Given the description of an element on the screen output the (x, y) to click on. 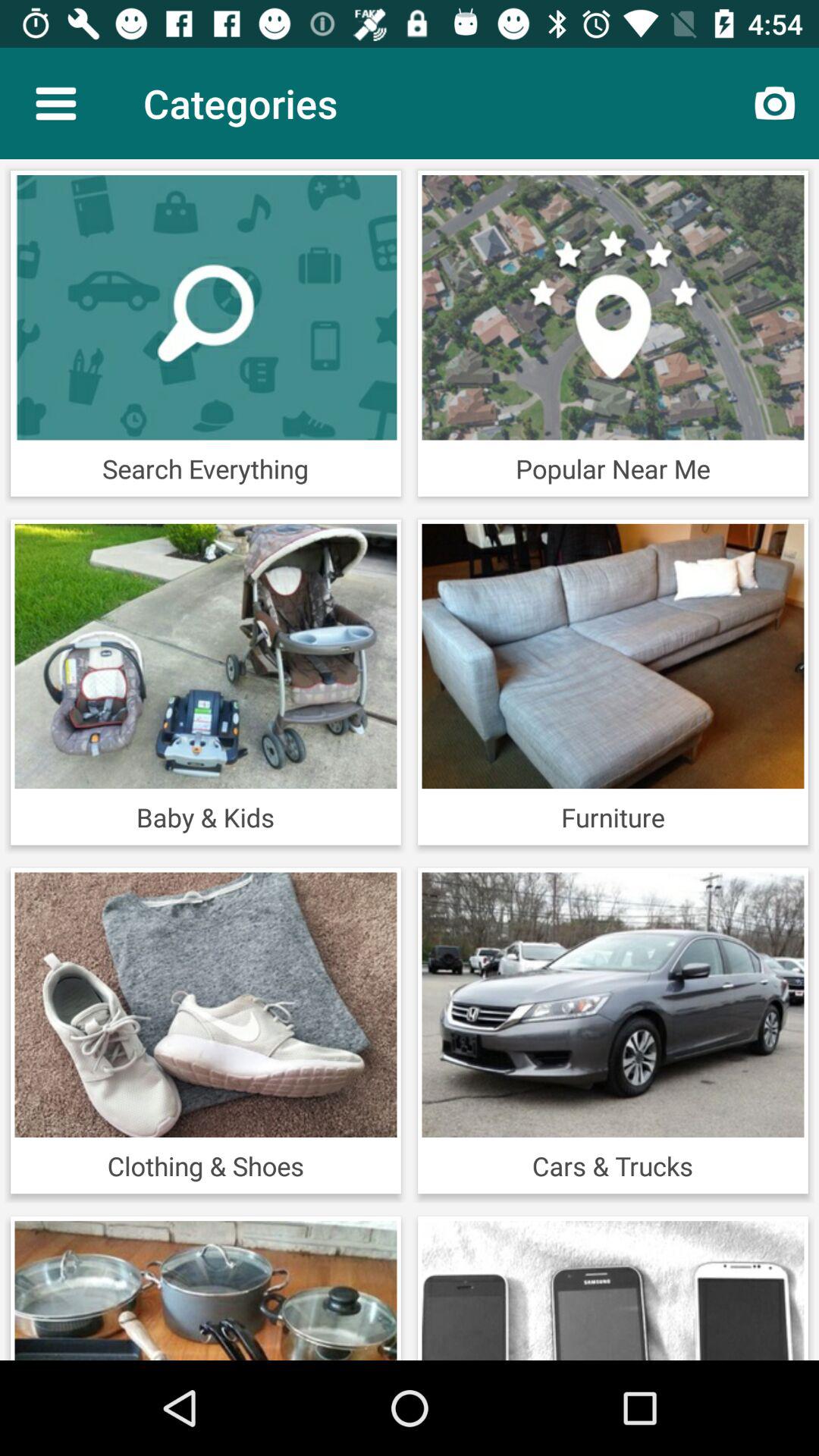
turn on the item to the left of the categories item (55, 103)
